Given the description of an element on the screen output the (x, y) to click on. 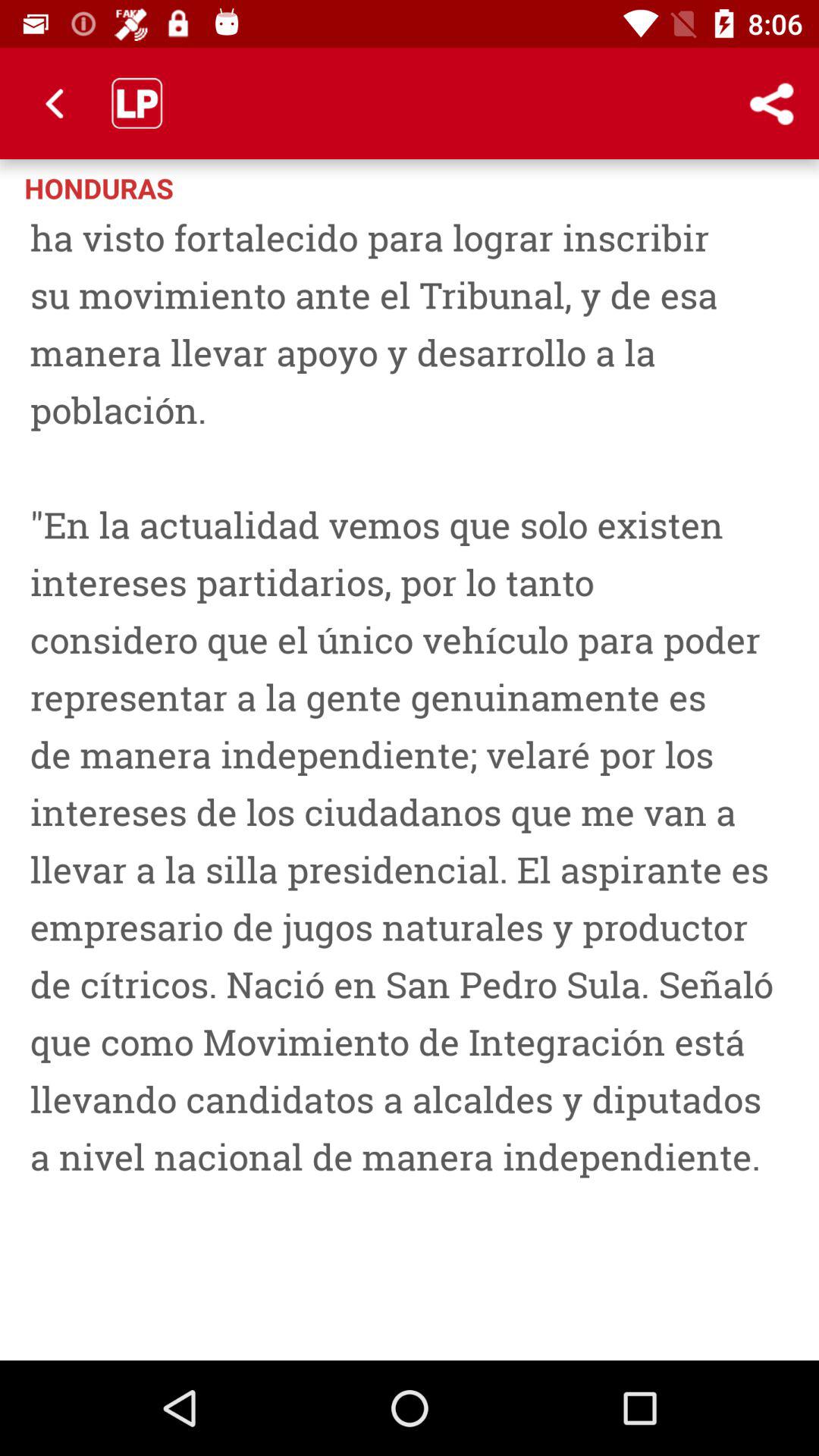
select san pedro sula (409, 778)
